Given the description of an element on the screen output the (x, y) to click on. 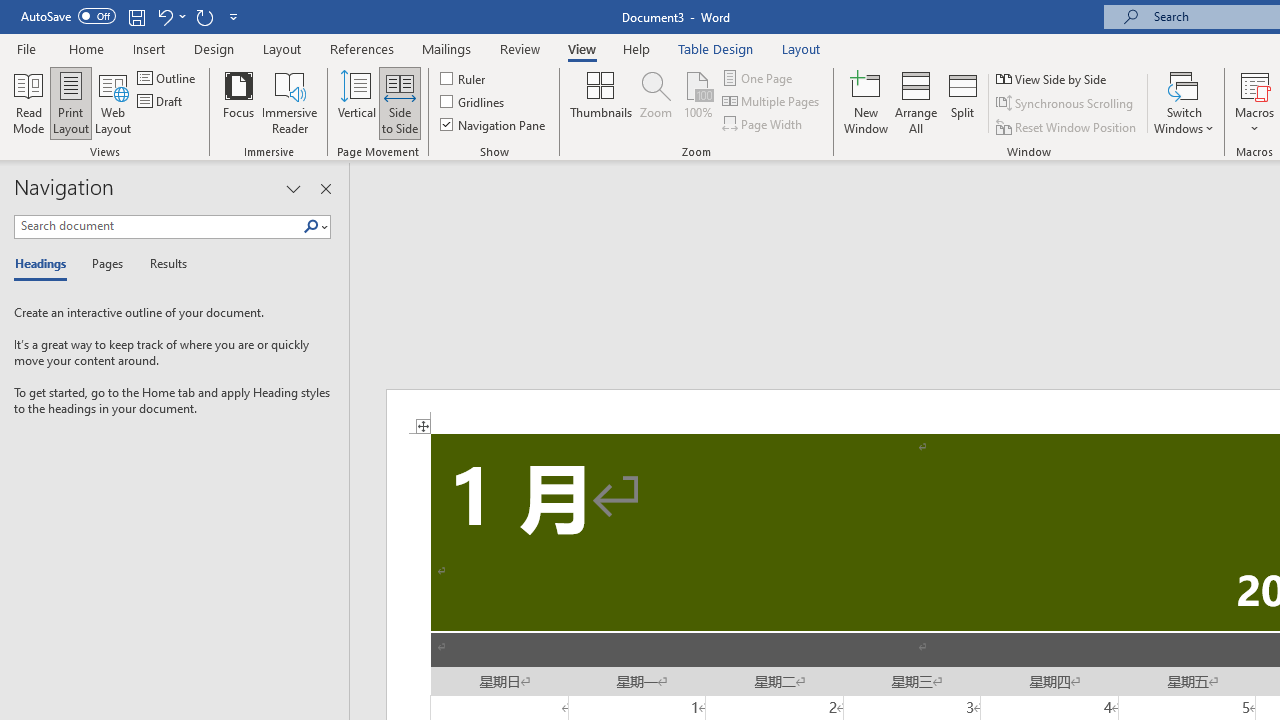
Headings (45, 264)
One Page (758, 78)
View Macros (1254, 84)
Multiple Pages (772, 101)
Ruler (463, 78)
Repeat Doc Close (204, 15)
Split (963, 102)
Navigation Pane (493, 124)
100% (698, 102)
